Given the description of an element on the screen output the (x, y) to click on. 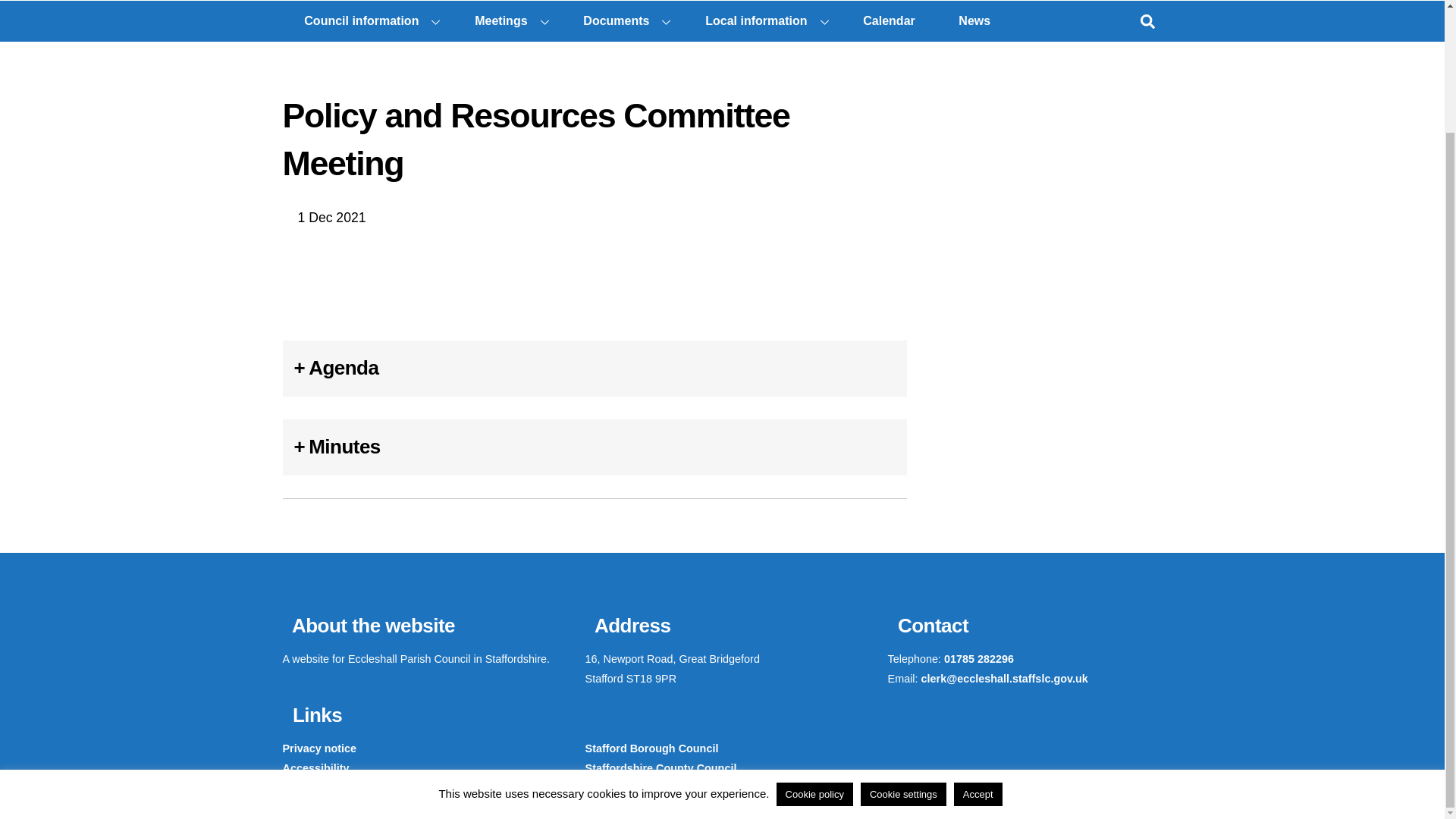
Meetings (506, 20)
Documents (623, 20)
Local information (761, 20)
Council information (367, 20)
Search (1146, 20)
